Given the description of an element on the screen output the (x, y) to click on. 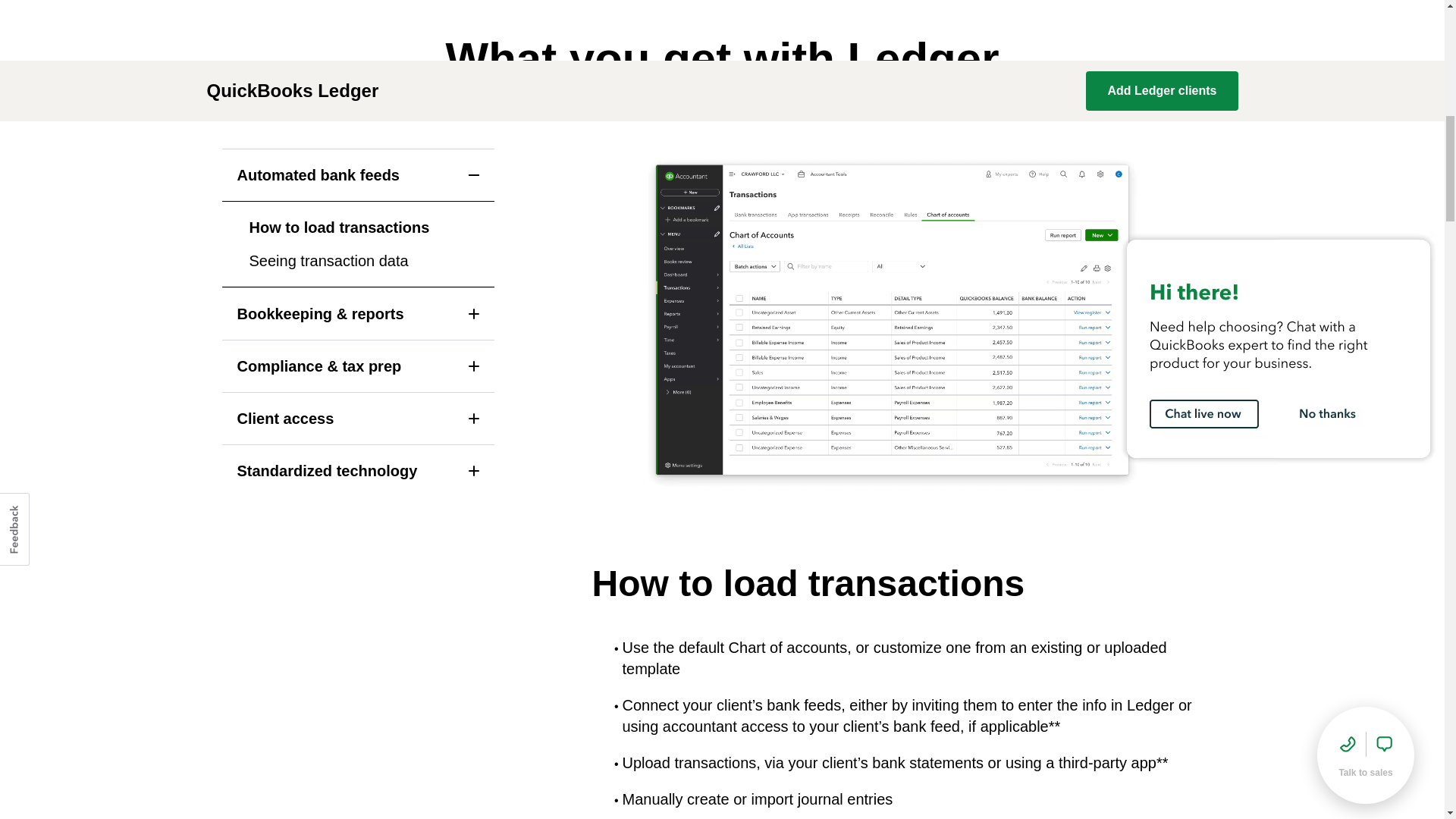
Automated bank feeds (358, 174)
Client access (358, 418)
How to load transactions (338, 227)
Standardized technology (358, 470)
Seeing transaction data (327, 260)
